Given the description of an element on the screen output the (x, y) to click on. 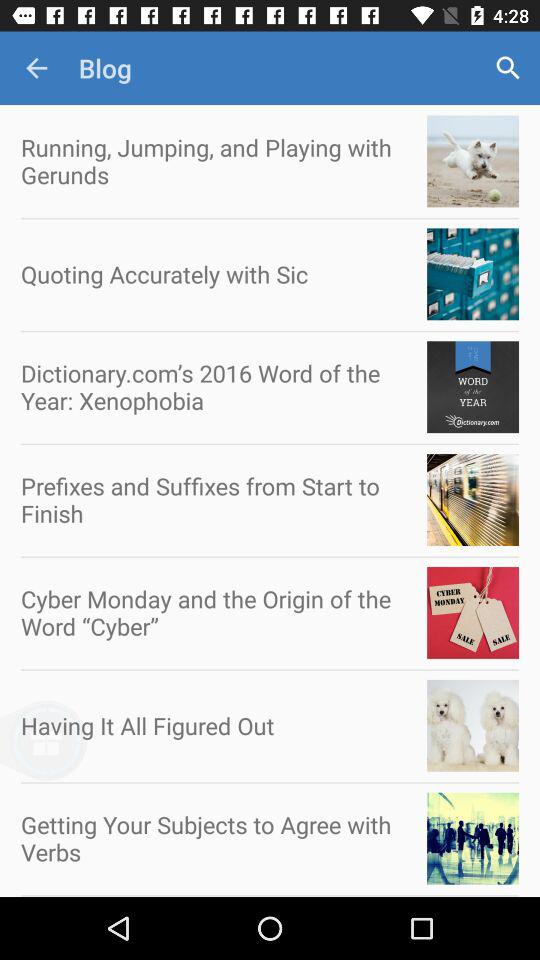
open icon to the right of the blog app (508, 67)
